Given the description of an element on the screen output the (x, y) to click on. 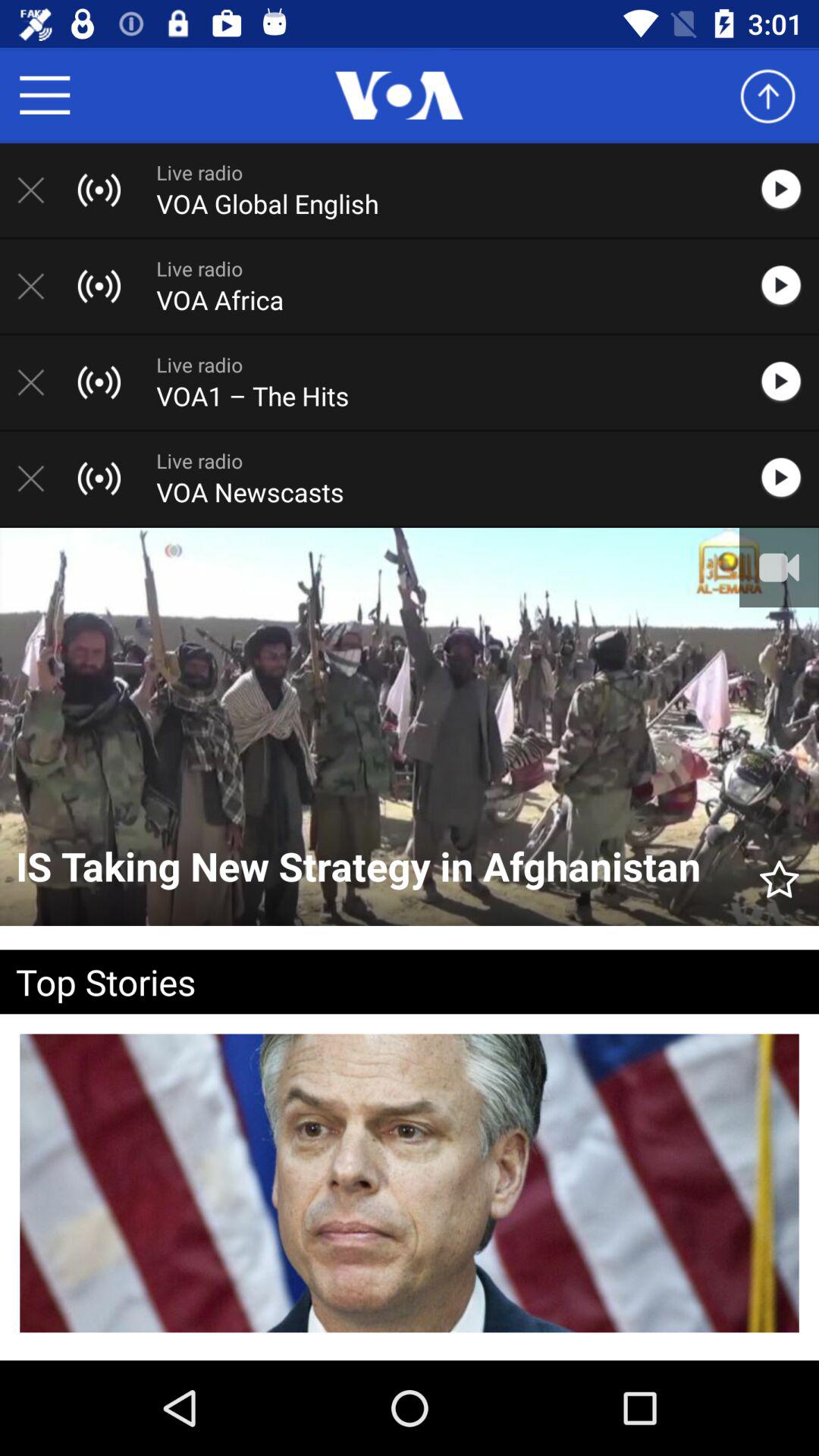
pressing this will play lie radio voa1-the hits (789, 381)
